Given the description of an element on the screen output the (x, y) to click on. 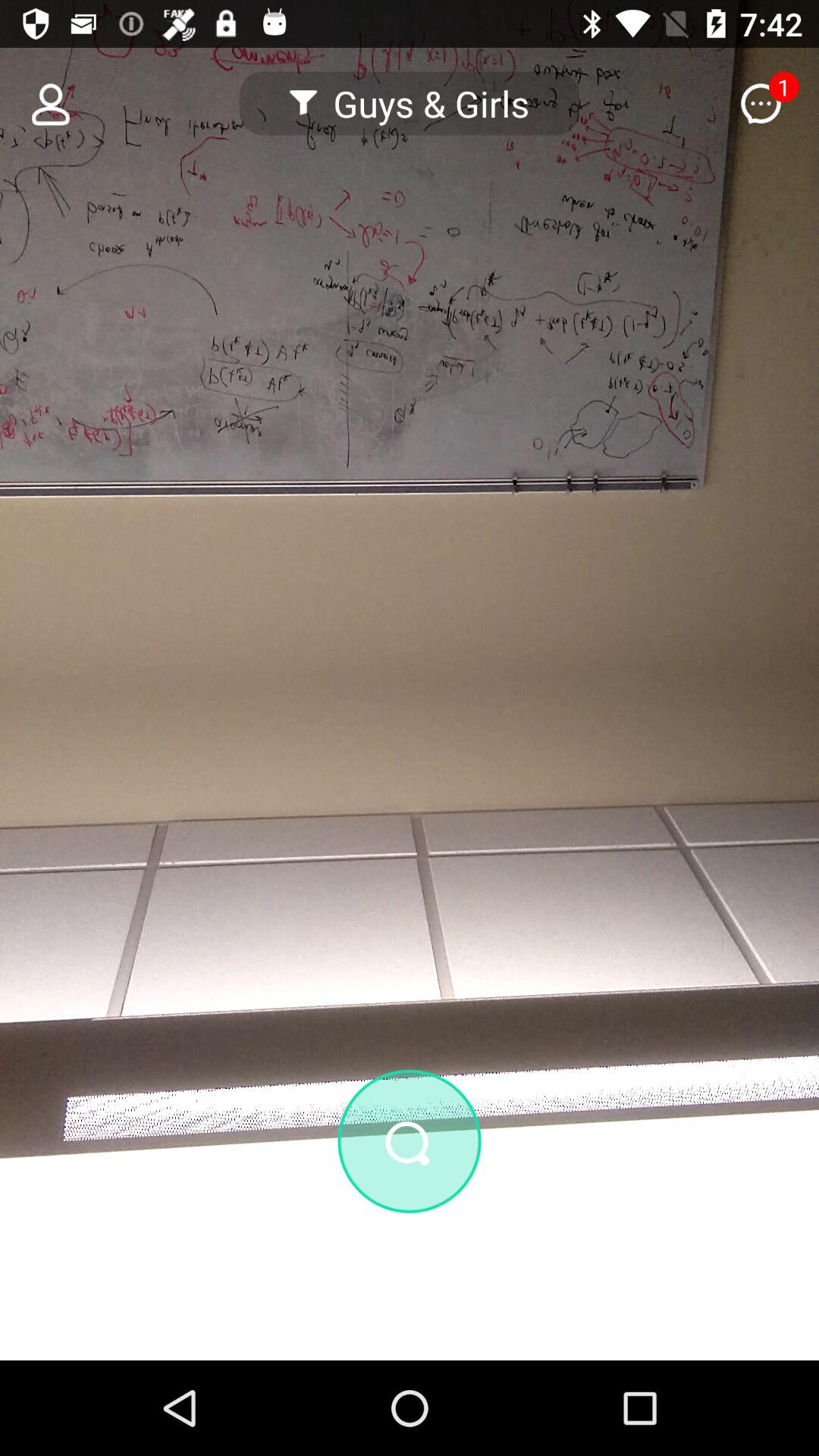
swipe to search (409, 1222)
